Given the description of an element on the screen output the (x, y) to click on. 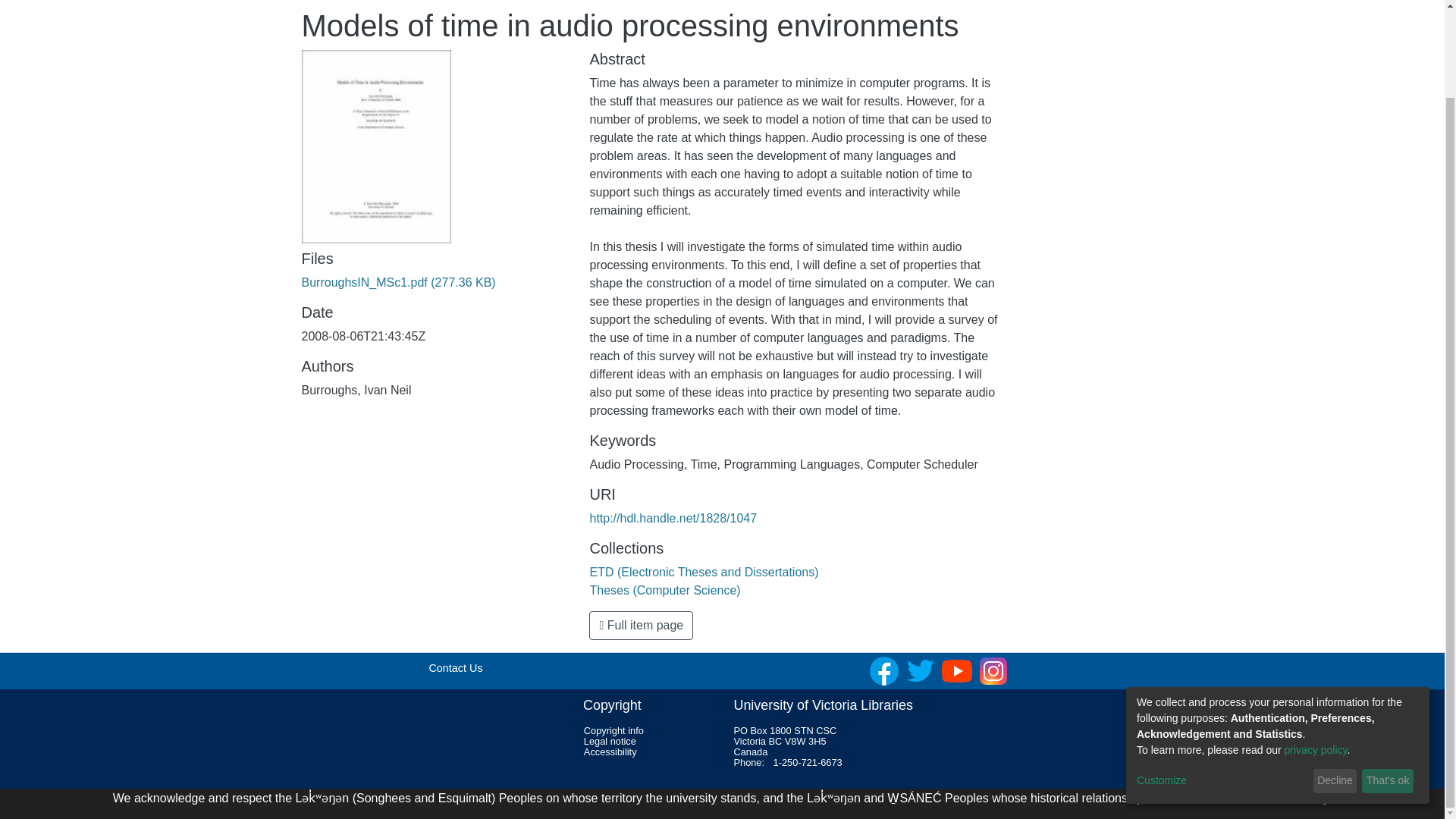
Contact Us (454, 667)
Full item page (641, 624)
